Given the description of an element on the screen output the (x, y) to click on. 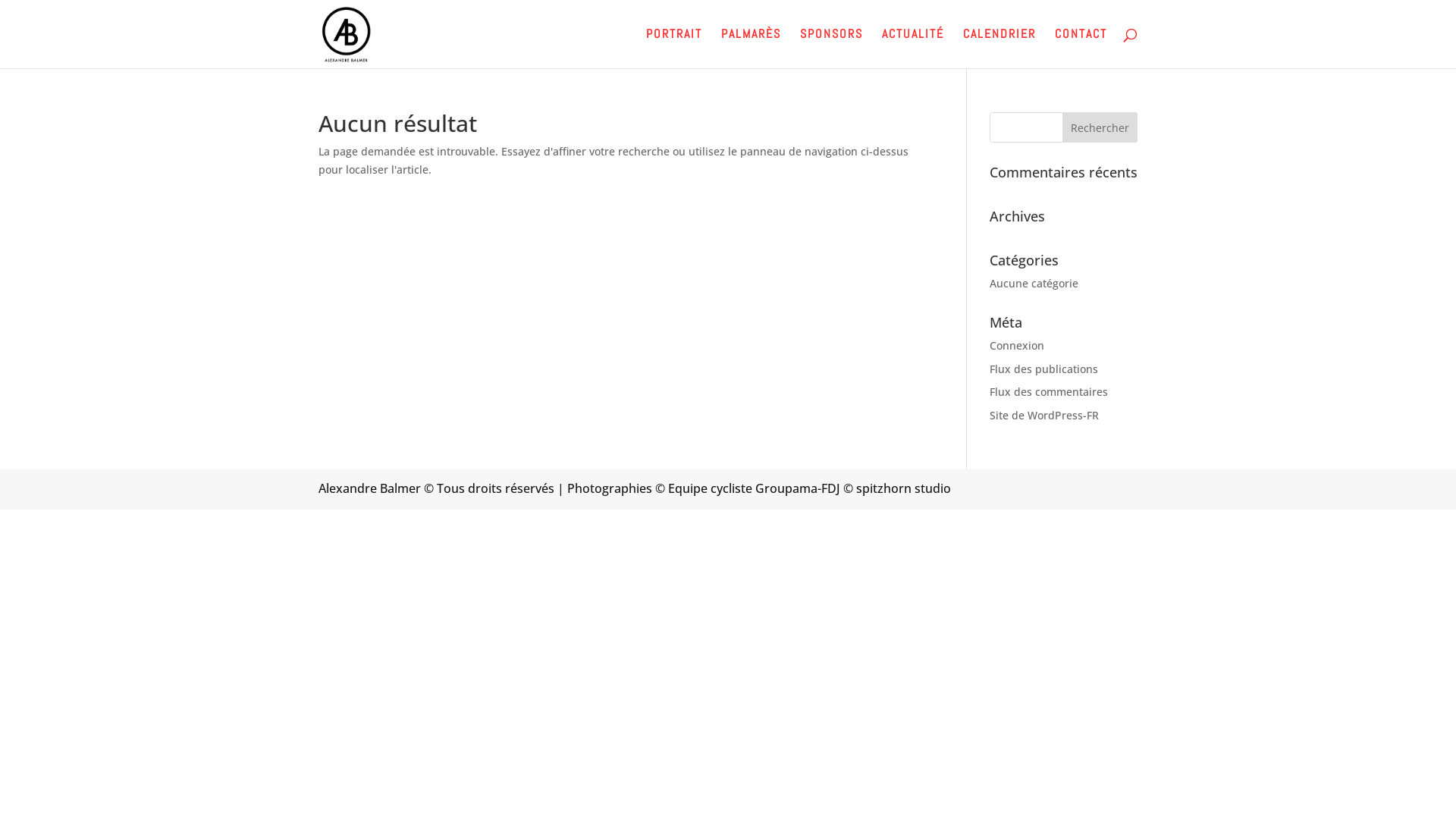
Connexion Element type: text (1016, 345)
Flux des commentaires Element type: text (1048, 391)
PORTRAIT Element type: text (674, 48)
CONTACT Element type: text (1080, 48)
CALENDRIER Element type: text (999, 48)
Rechercher Element type: text (1099, 127)
Flux des publications Element type: text (1043, 368)
SPONSORS Element type: text (831, 48)
Site de WordPress-FR Element type: text (1043, 414)
